Given the description of an element on the screen output the (x, y) to click on. 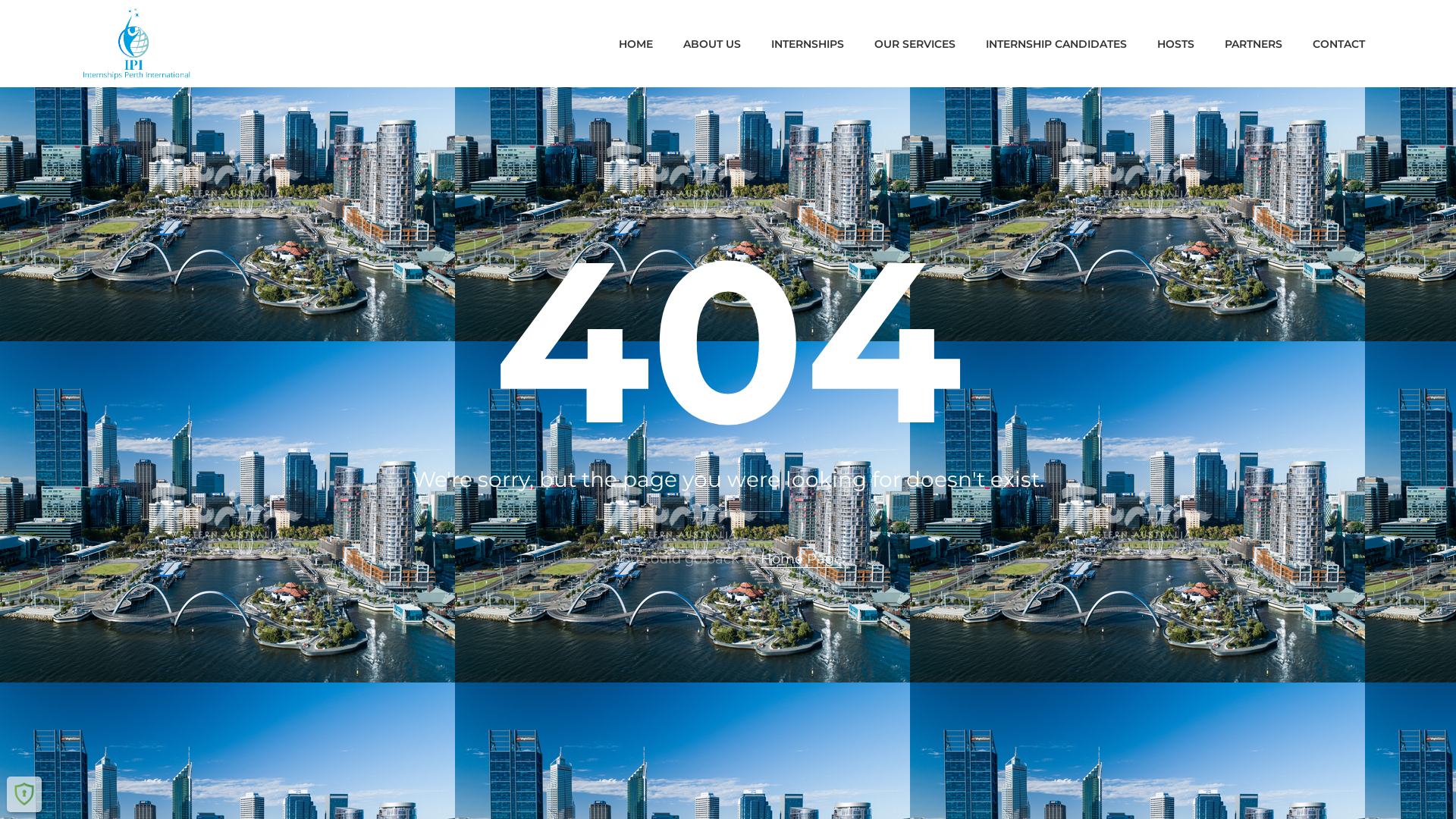
INTERNSHIP CANDIDATES Element type: text (1056, 42)
Home Page Element type: text (800, 558)
CONTACT Element type: text (1331, 42)
HOSTS Element type: text (1175, 42)
PARTNERS Element type: text (1253, 42)
Internshipsinperth Element type: hover (136, 43)
INTERNSHIPS Element type: text (807, 42)
Shield Security Element type: hover (24, 793)
OUR SERVICES Element type: text (914, 42)
HOME Element type: text (635, 42)
ABOUT US Element type: text (712, 42)
